Given the description of an element on the screen output the (x, y) to click on. 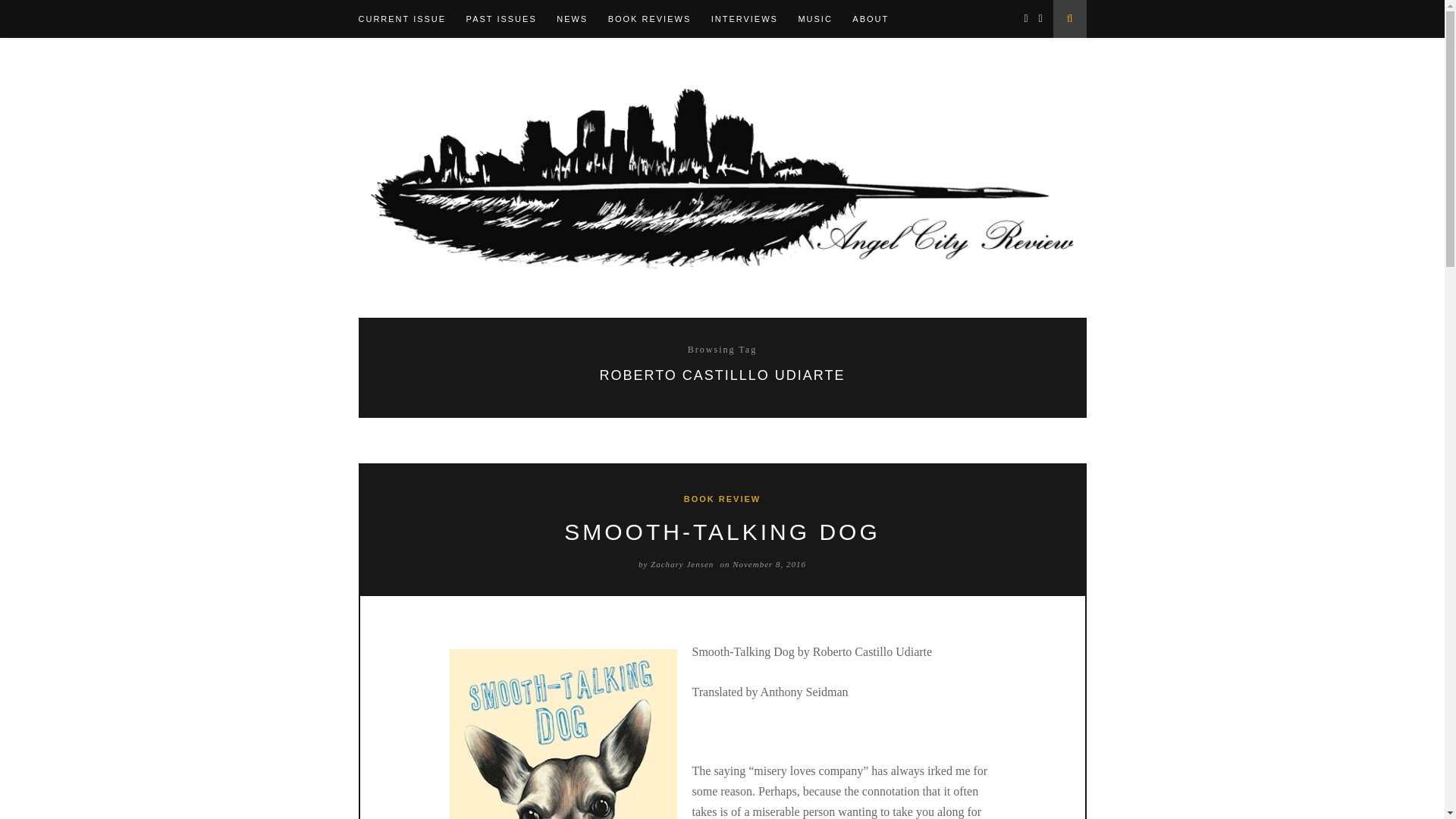
BOOK REVIEWS (657, 18)
PAST ISSUES (509, 18)
Zachary Jensen (681, 563)
Posts by Zachary Jensen (681, 563)
SMOOTH-TALKING DOG (721, 531)
BOOK REVIEW (722, 499)
ABOUT (878, 18)
NEWS (580, 18)
CURRENT ISSUE (410, 18)
MUSIC (822, 18)
INTERVIEWS (752, 18)
